Given the description of an element on the screen output the (x, y) to click on. 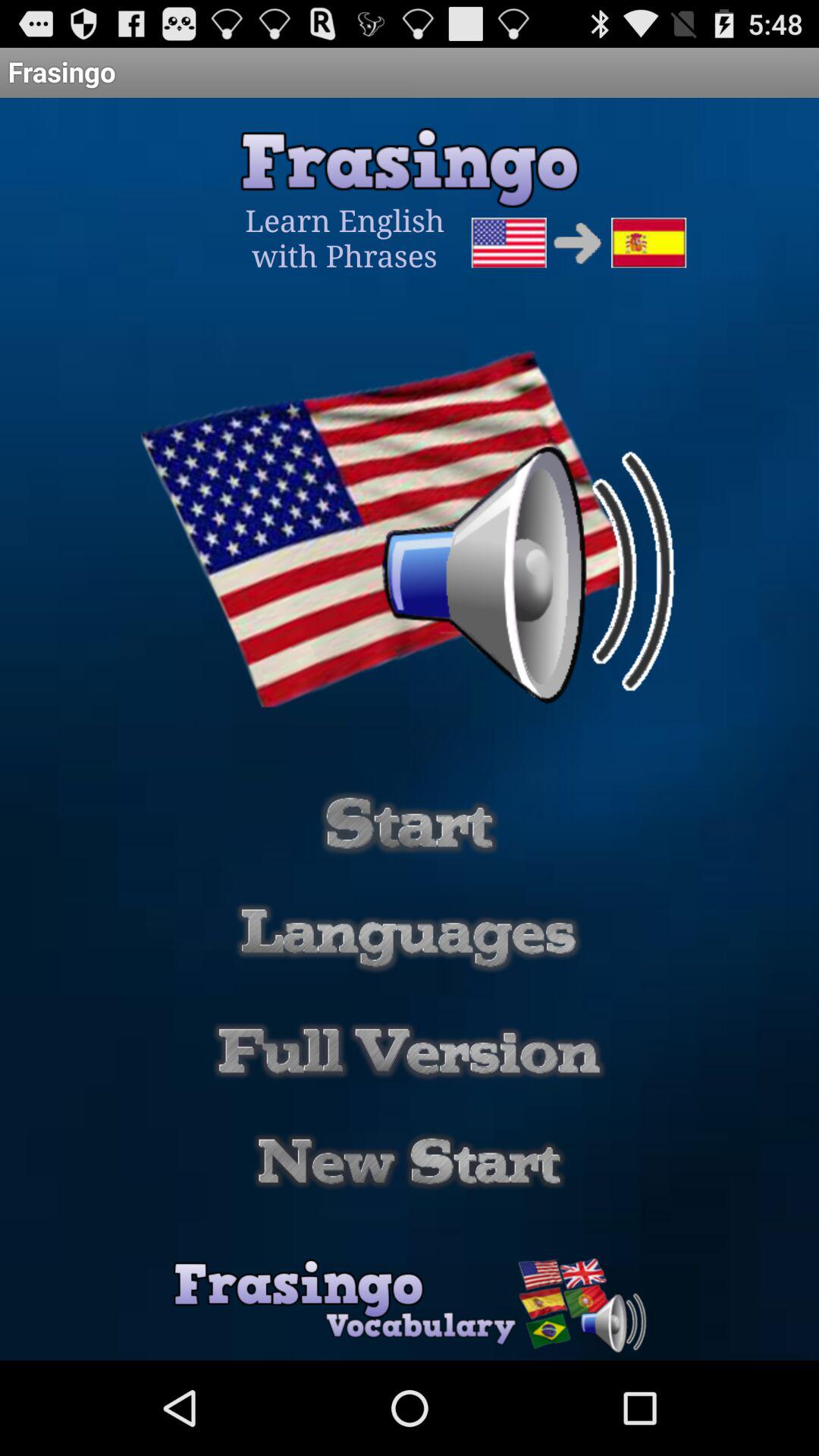
full version (409, 1051)
